Given the description of an element on the screen output the (x, y) to click on. 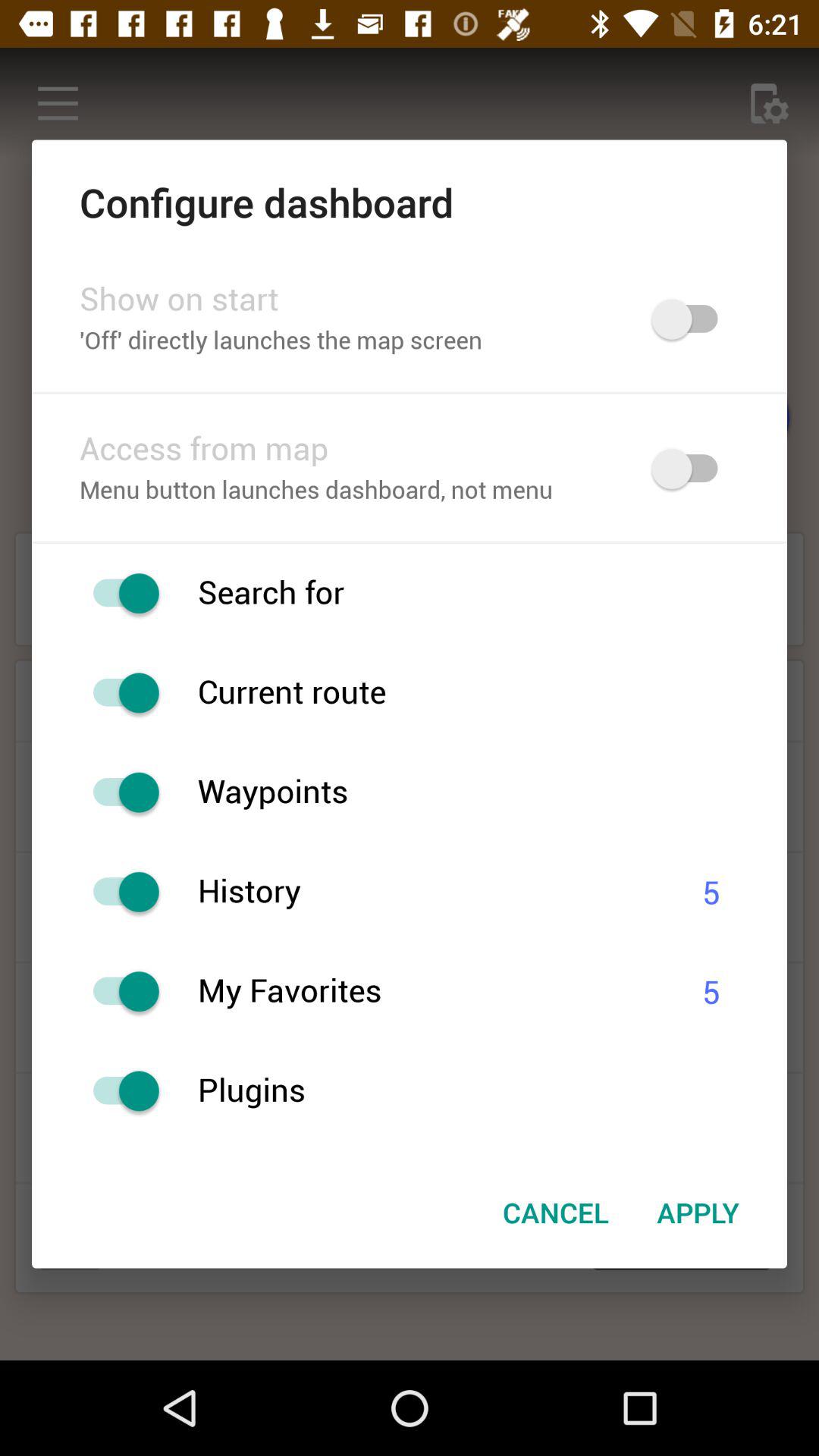
route instance (118, 693)
